Given the description of an element on the screen output the (x, y) to click on. 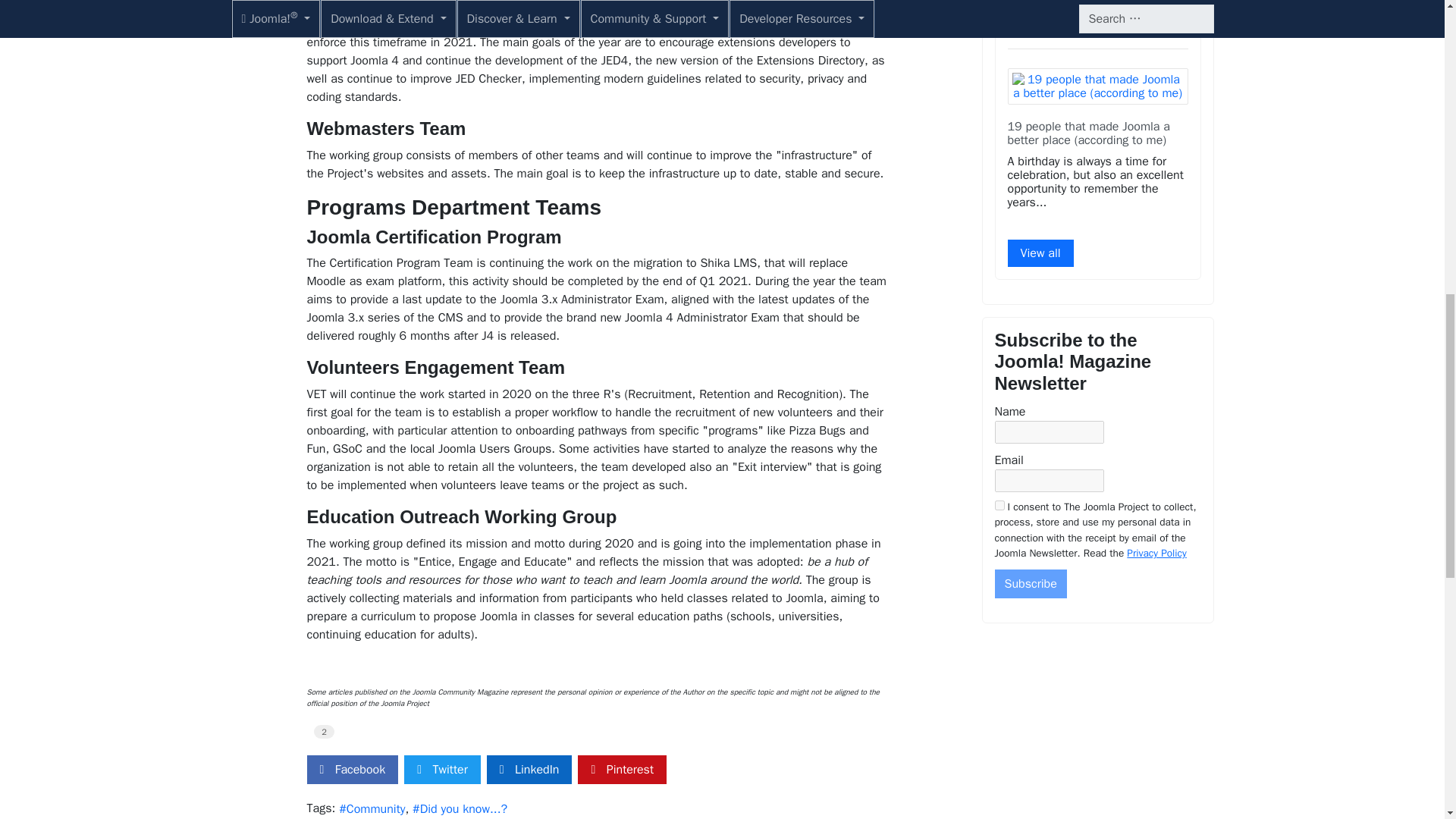
Terms and conditions (999, 505)
19-people (1097, 85)
2 votes (324, 731)
on (999, 505)
Subscribe (1030, 583)
